Given the description of an element on the screen output the (x, y) to click on. 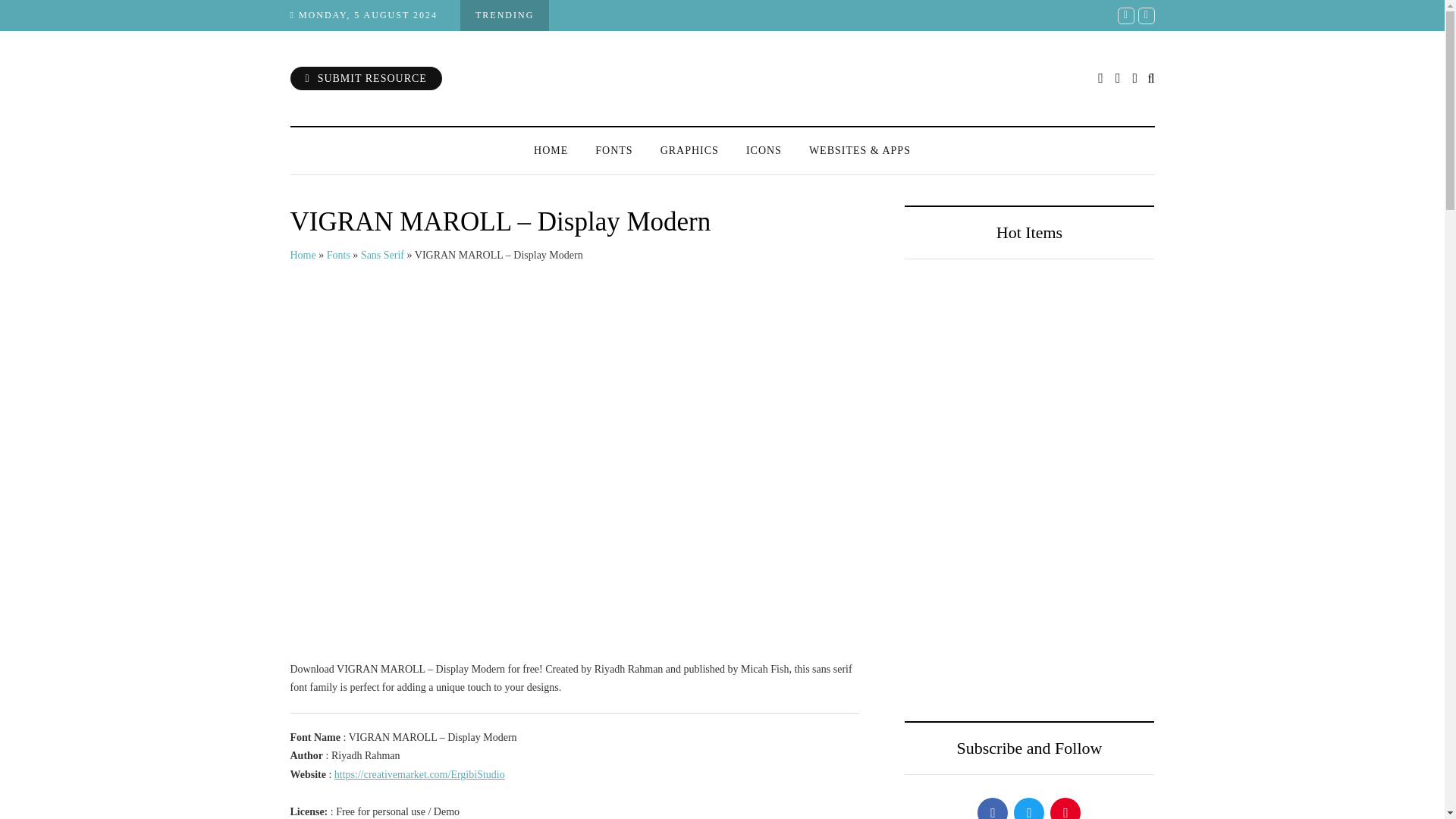
HOME (549, 150)
SUBMIT RESOURCE (365, 78)
ICONS (763, 150)
GRAPHICS (689, 150)
FONTS (613, 150)
Home (302, 255)
Fonts (338, 255)
Sans Serif (382, 255)
